Given the description of an element on the screen output the (x, y) to click on. 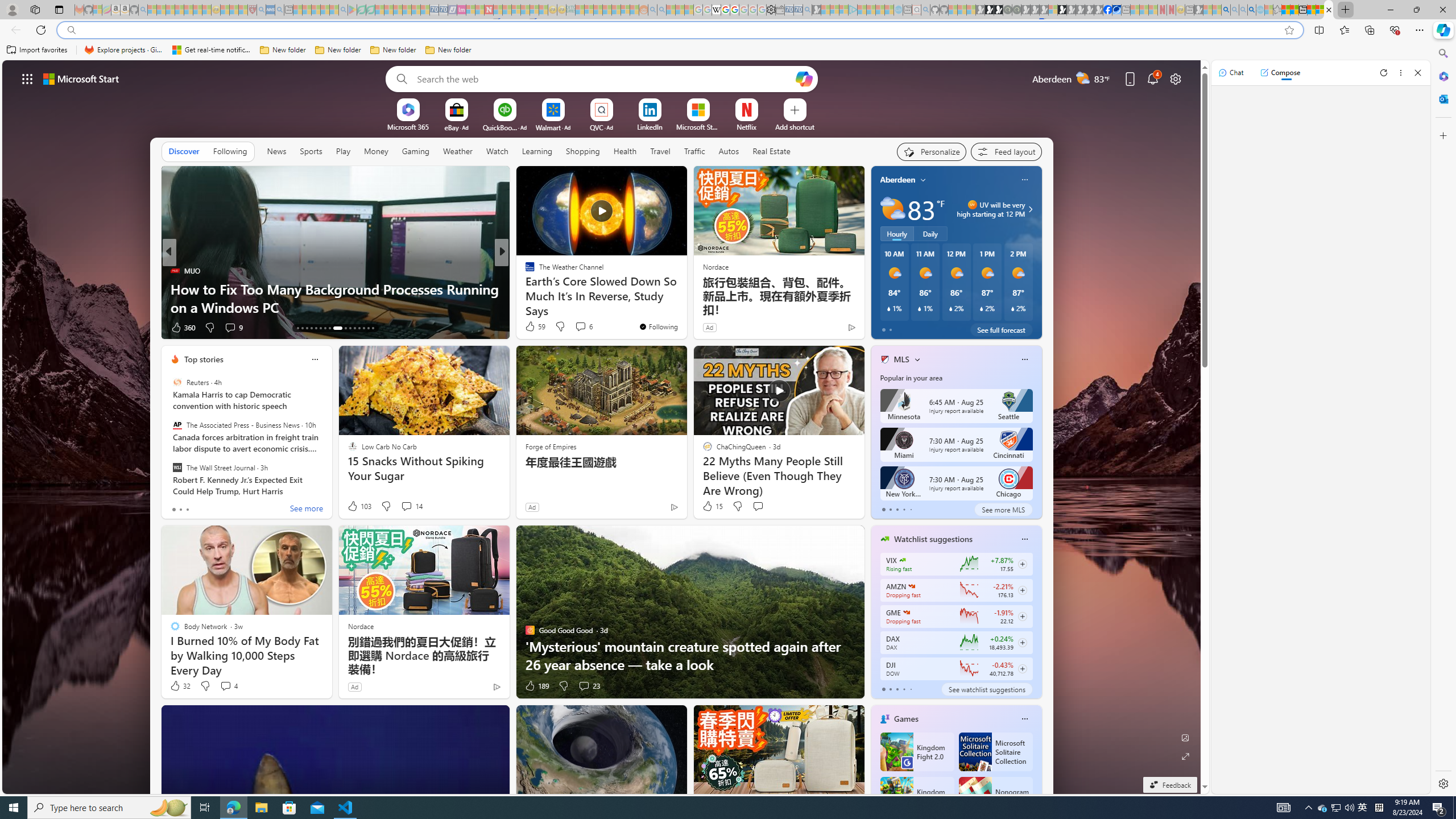
Sports (310, 151)
Latest Politics News & Archive | Newsweek.com - Sleeping (488, 9)
View comments 9 Comment (229, 327)
Money (375, 151)
View comments 6 Comment (580, 326)
Enter your search term (603, 78)
Rarest.org (524, 288)
Close Customize pane (1442, 135)
Reuters (176, 382)
